Given the description of an element on the screen output the (x, y) to click on. 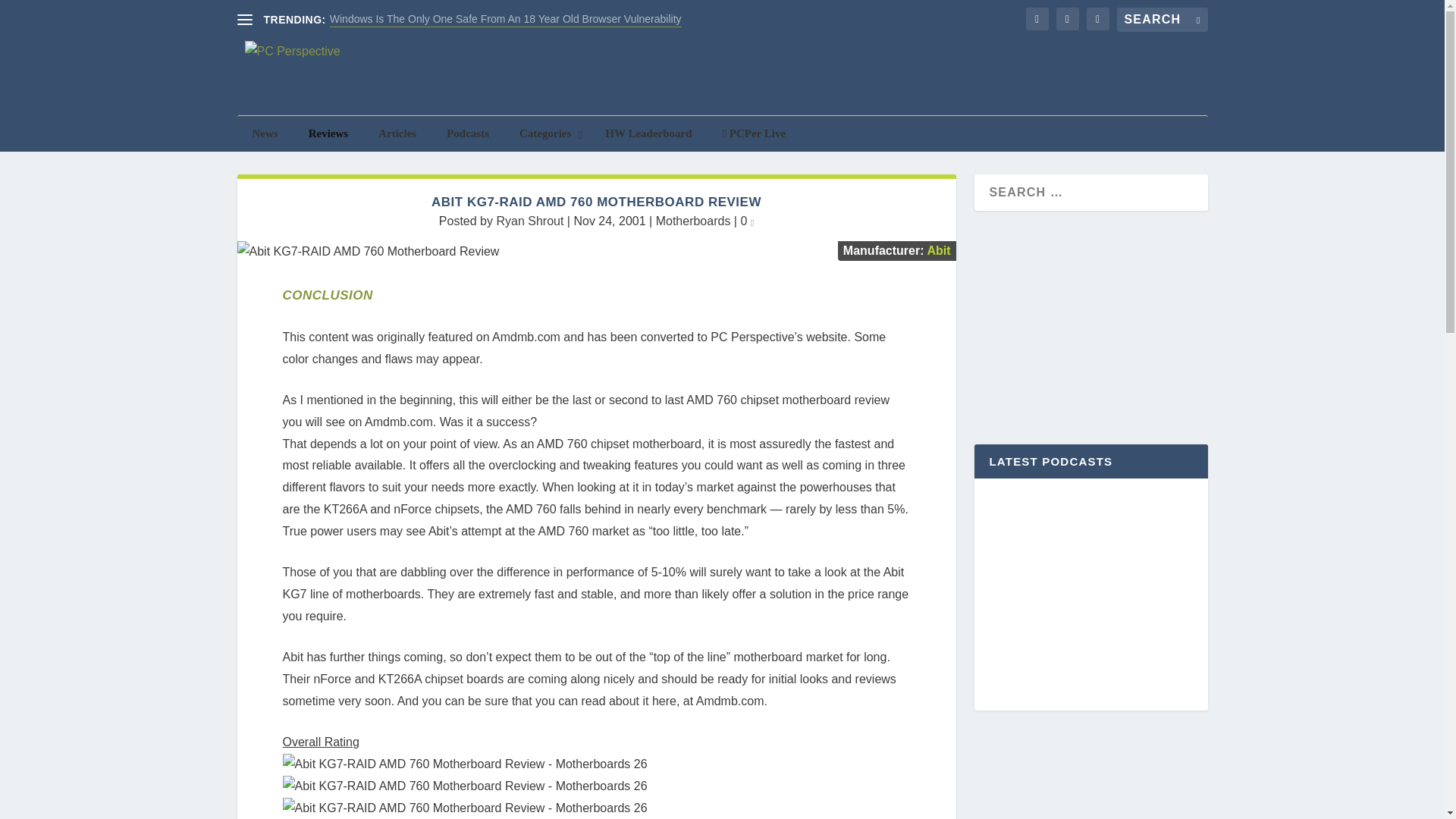
Search for: (1161, 19)
Categories (546, 133)
Posts by Ryan Shrout (529, 220)
HW Leaderboard (647, 133)
Ryan Shrout (529, 220)
PCPer Live (754, 133)
News (263, 133)
Podcasts (466, 133)
